Given the description of an element on the screen output the (x, y) to click on. 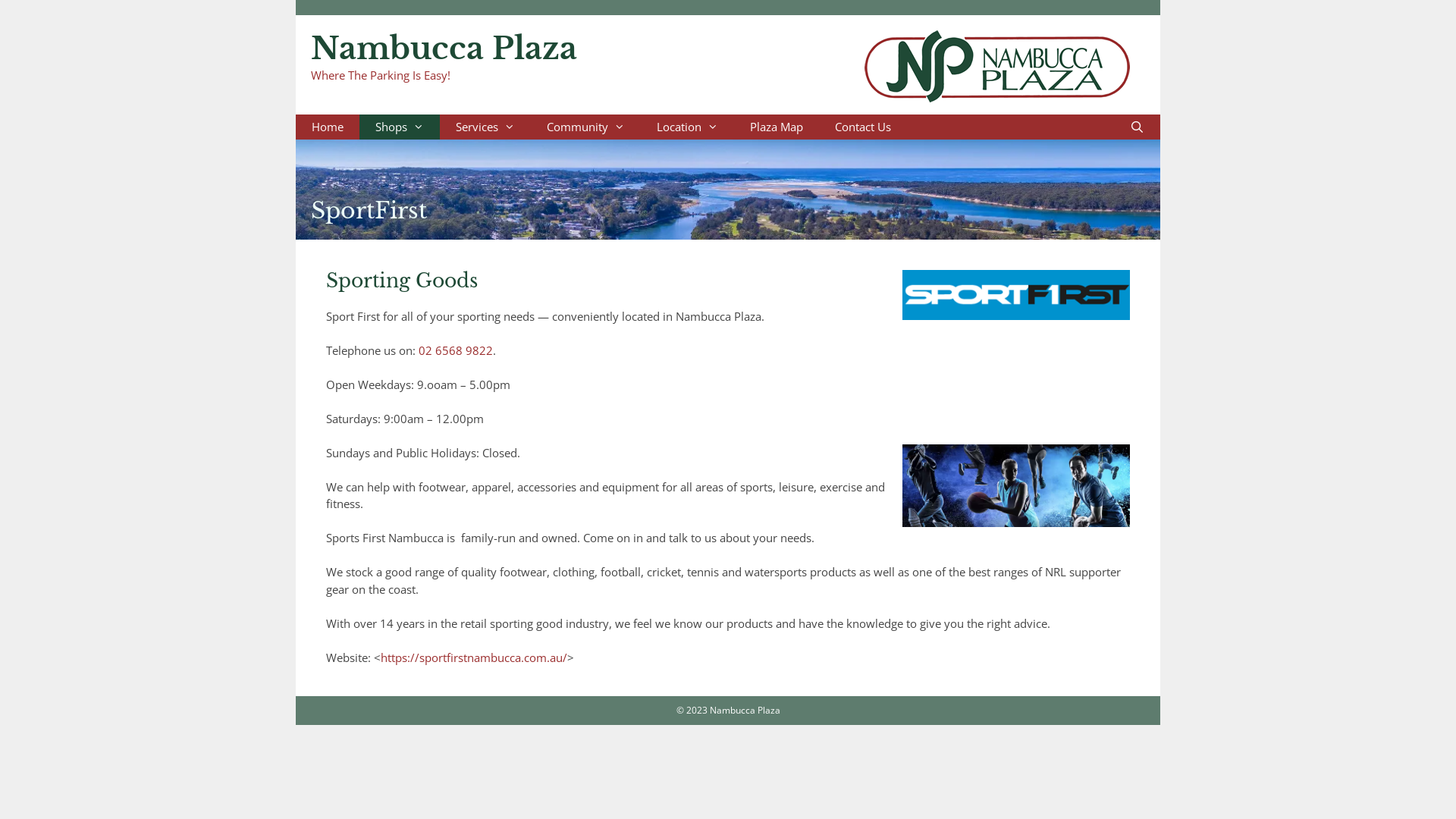
02 6568 9822 Element type: text (455, 349)
https://sportfirstnambucca.com.au/ Element type: text (473, 656)
Services Element type: text (484, 125)
Location Element type: text (687, 125)
Plaza Map Element type: text (776, 125)
Home Element type: text (327, 125)
Shops Element type: text (399, 125)
Nambucca Plaza Element type: text (443, 48)
Contact Us Element type: text (862, 125)
Community Element type: text (585, 125)
